Given the description of an element on the screen output the (x, y) to click on. 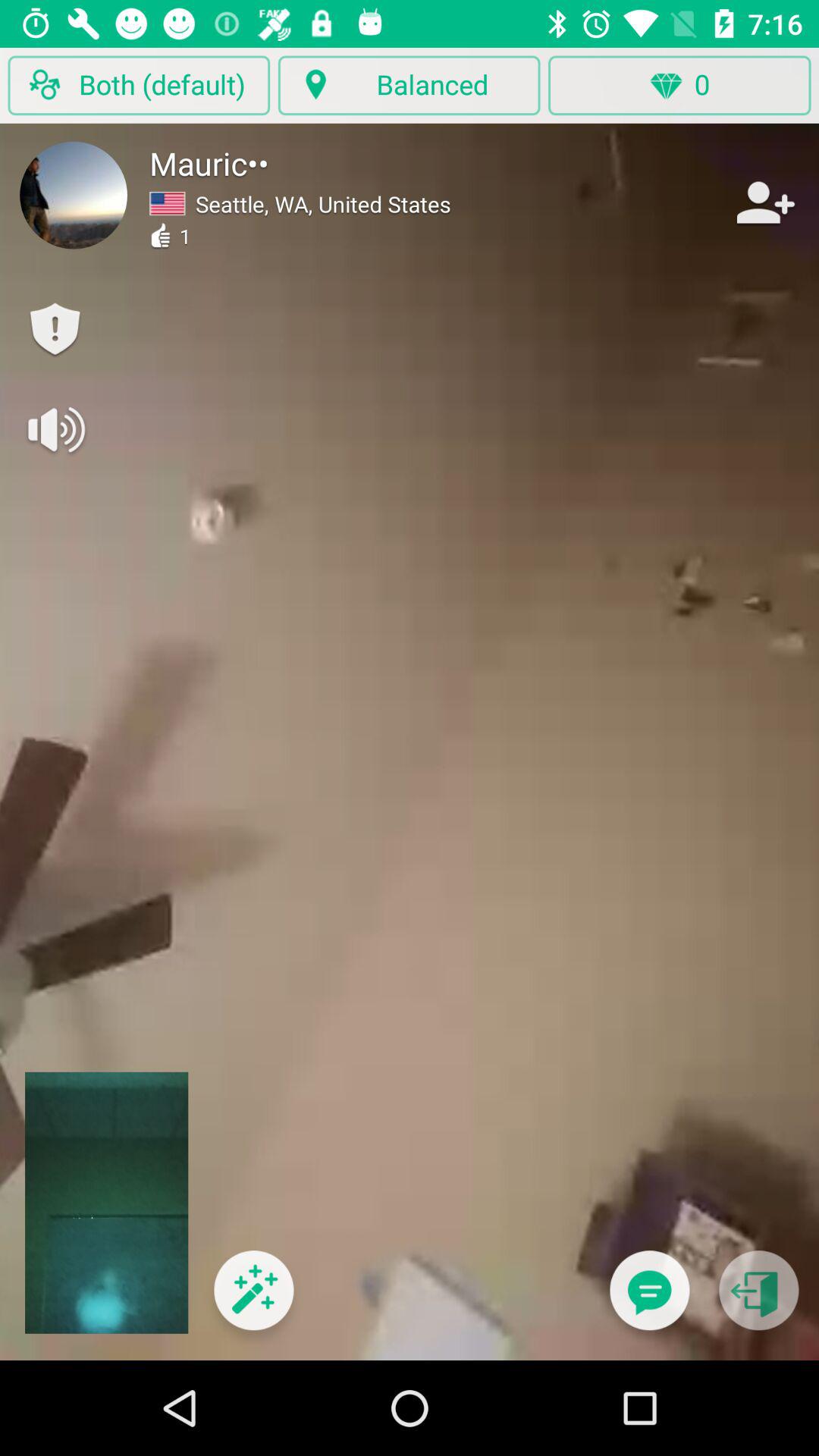
look at user profile (73, 195)
